Given the description of an element on the screen output the (x, y) to click on. 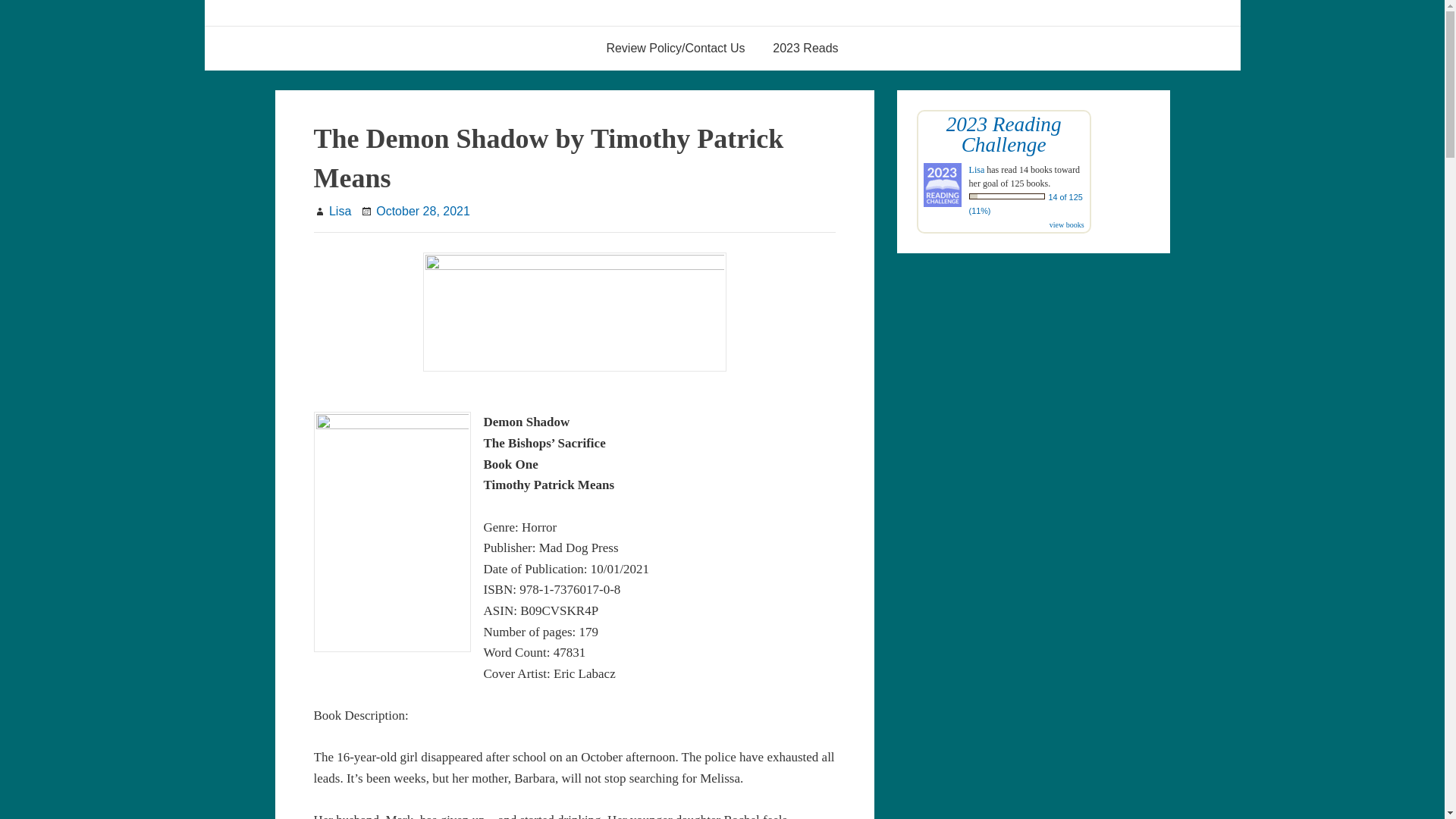
Lisas World of Books (385, 26)
2023 Reading Challenge (1003, 134)
Lisa (977, 169)
2023 Reads (805, 48)
view books (1066, 224)
Lisa (339, 210)
October 28, 2021 (422, 210)
